Given the description of an element on the screen output the (x, y) to click on. 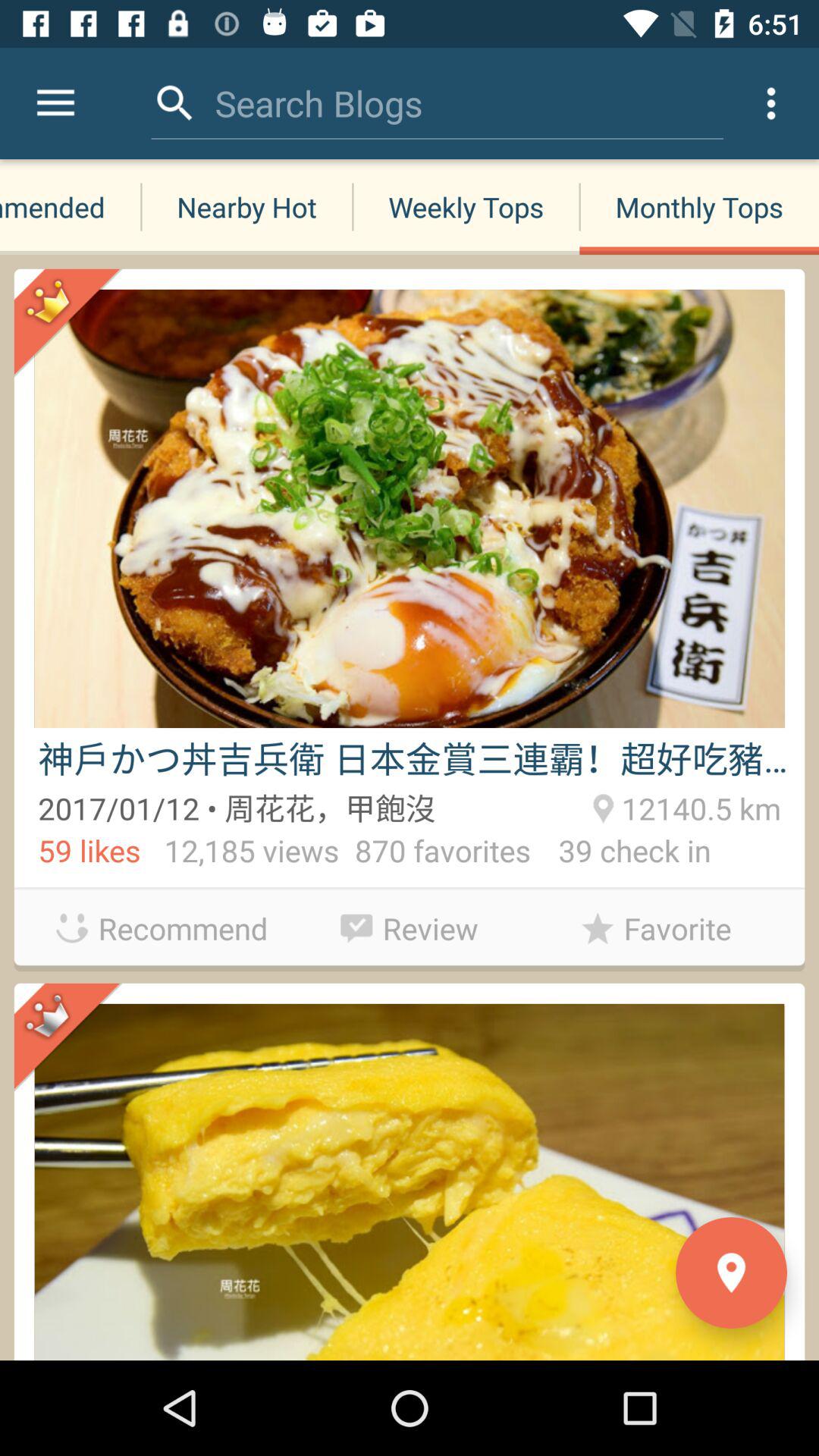
swipe to review (409, 924)
